Given the description of an element on the screen output the (x, y) to click on. 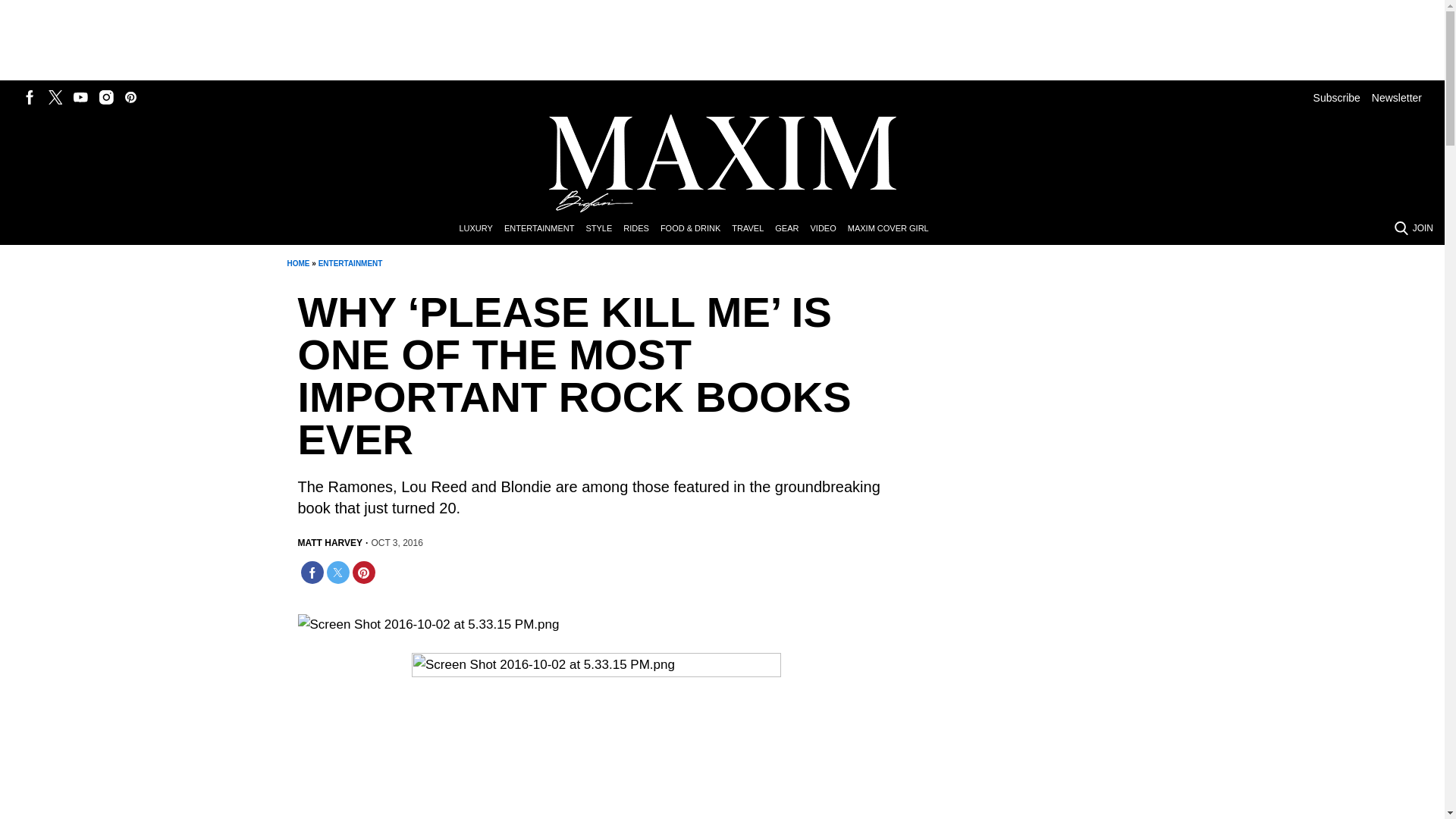
Follow us on Youtube (80, 97)
LUXURY (480, 228)
JOIN (1422, 228)
Follow us on Twitter (55, 97)
MAXIM COVER GIRL (893, 228)
Subscribe (1336, 97)
TRAVEL (753, 228)
ENTERTAINMENT (350, 263)
Posts by Matt Harvey (329, 543)
Share on Facebook (311, 572)
